Given the description of an element on the screen output the (x, y) to click on. 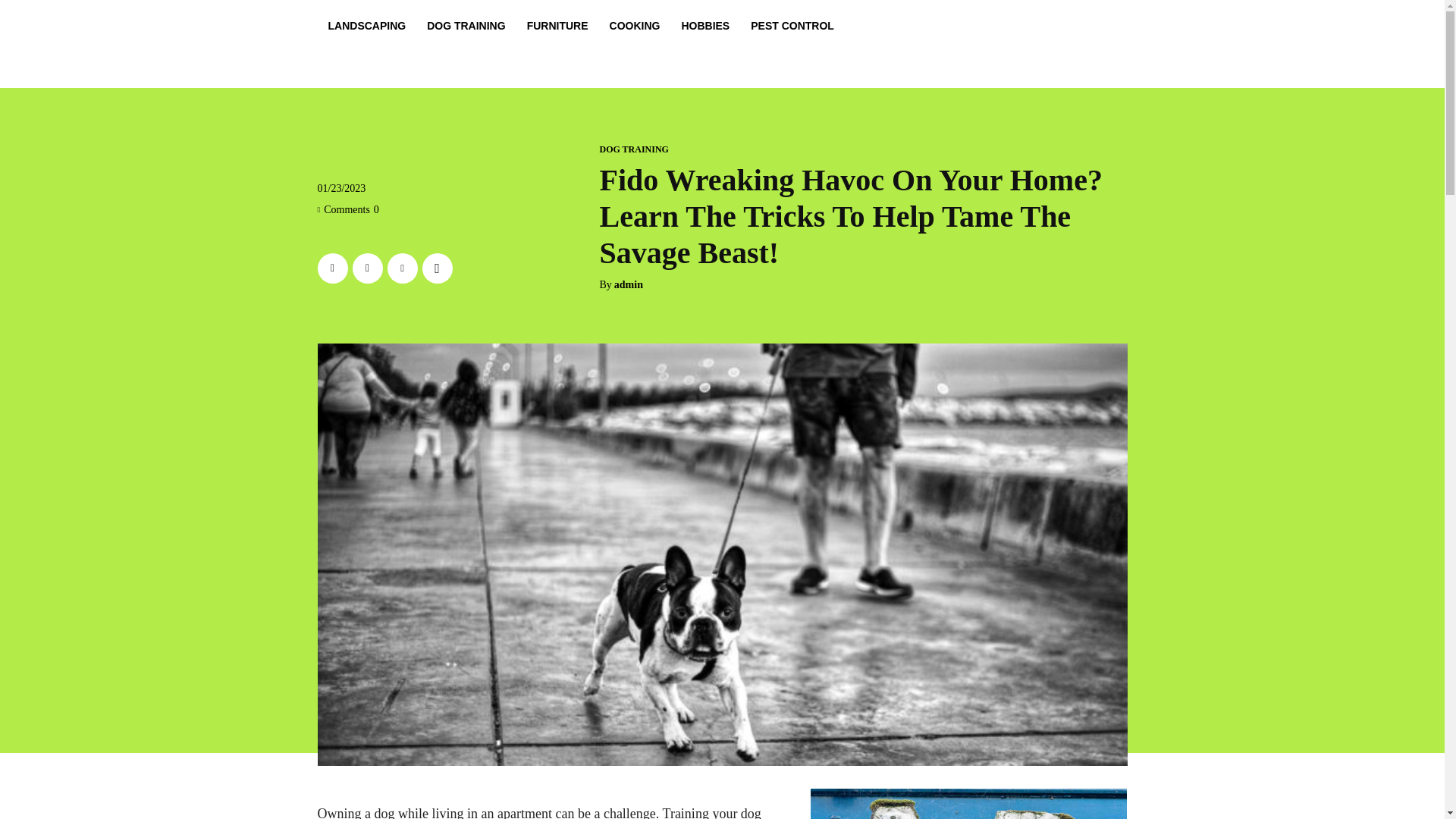
admin (628, 285)
WhatsApp (436, 268)
Pinterest (401, 268)
Twitter (366, 268)
HOBBIES (704, 25)
PEST CONTROL (791, 25)
DOG TRAINING (633, 149)
COOKING (634, 25)
Facebook (332, 268)
LANDSCAPING (366, 25)
Comments0 (347, 209)
DOG TRAINING (465, 25)
FURNITURE (557, 25)
